Given the description of an element on the screen output the (x, y) to click on. 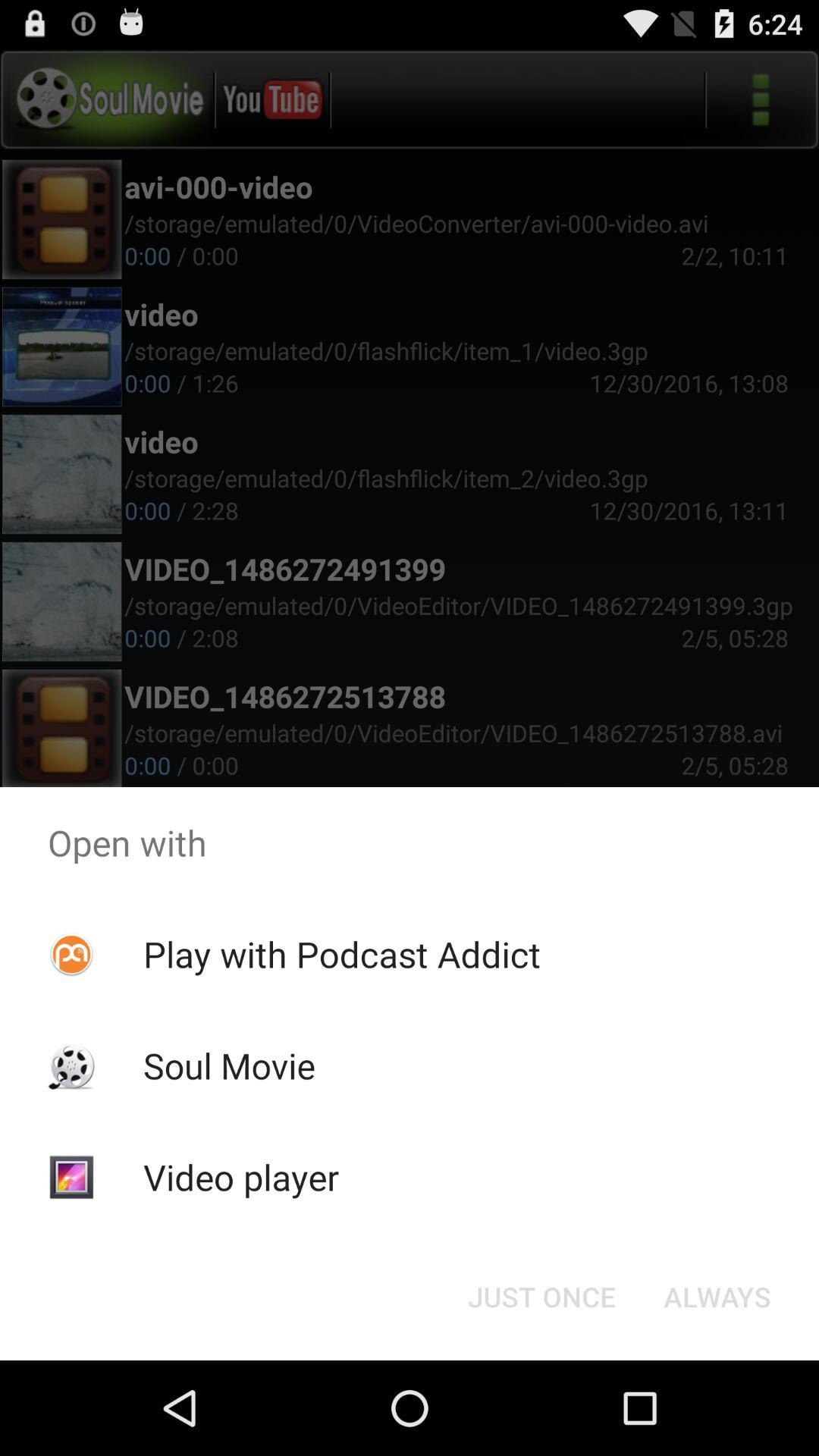
scroll until soul movie app (229, 1065)
